Given the description of an element on the screen output the (x, y) to click on. 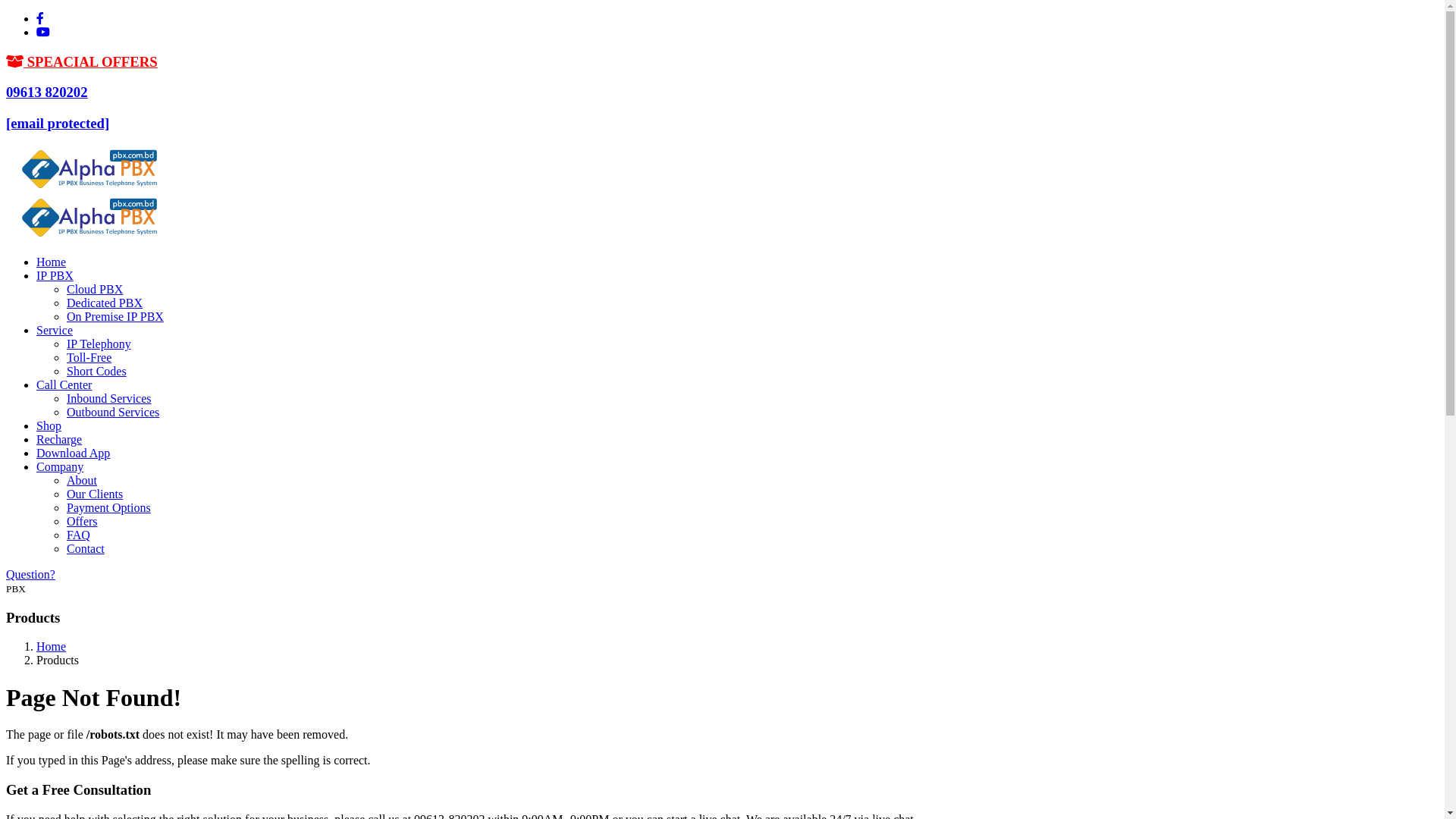
Payment Options Element type: text (108, 507)
Inbound Services Element type: text (108, 398)
Offers Element type: text (81, 520)
Call Center Element type: text (63, 384)
Download App Element type: text (72, 452)
Home Element type: text (50, 261)
[email protected] Element type: text (57, 123)
Shop Element type: text (48, 425)
IP PBX Element type: text (54, 275)
FAQ Element type: text (78, 534)
About Element type: text (81, 479)
Toll-Free Element type: text (88, 357)
Recharge Element type: text (58, 439)
Home Element type: text (50, 646)
On Premise IP PBX Element type: text (114, 316)
Cloud PBX Element type: text (94, 288)
SPEACIAL OFFERS Element type: text (81, 61)
Service Element type: text (54, 329)
Our Clients Element type: text (94, 493)
Outbound Services Element type: text (112, 411)
IP Telephony Element type: text (98, 343)
Short Codes Element type: text (96, 370)
Contact Element type: text (85, 548)
Company Element type: text (59, 466)
Dedicated PBX Element type: text (104, 302)
09613 820202 Element type: text (46, 92)
Question? Element type: text (30, 573)
